Given the description of an element on the screen output the (x, y) to click on. 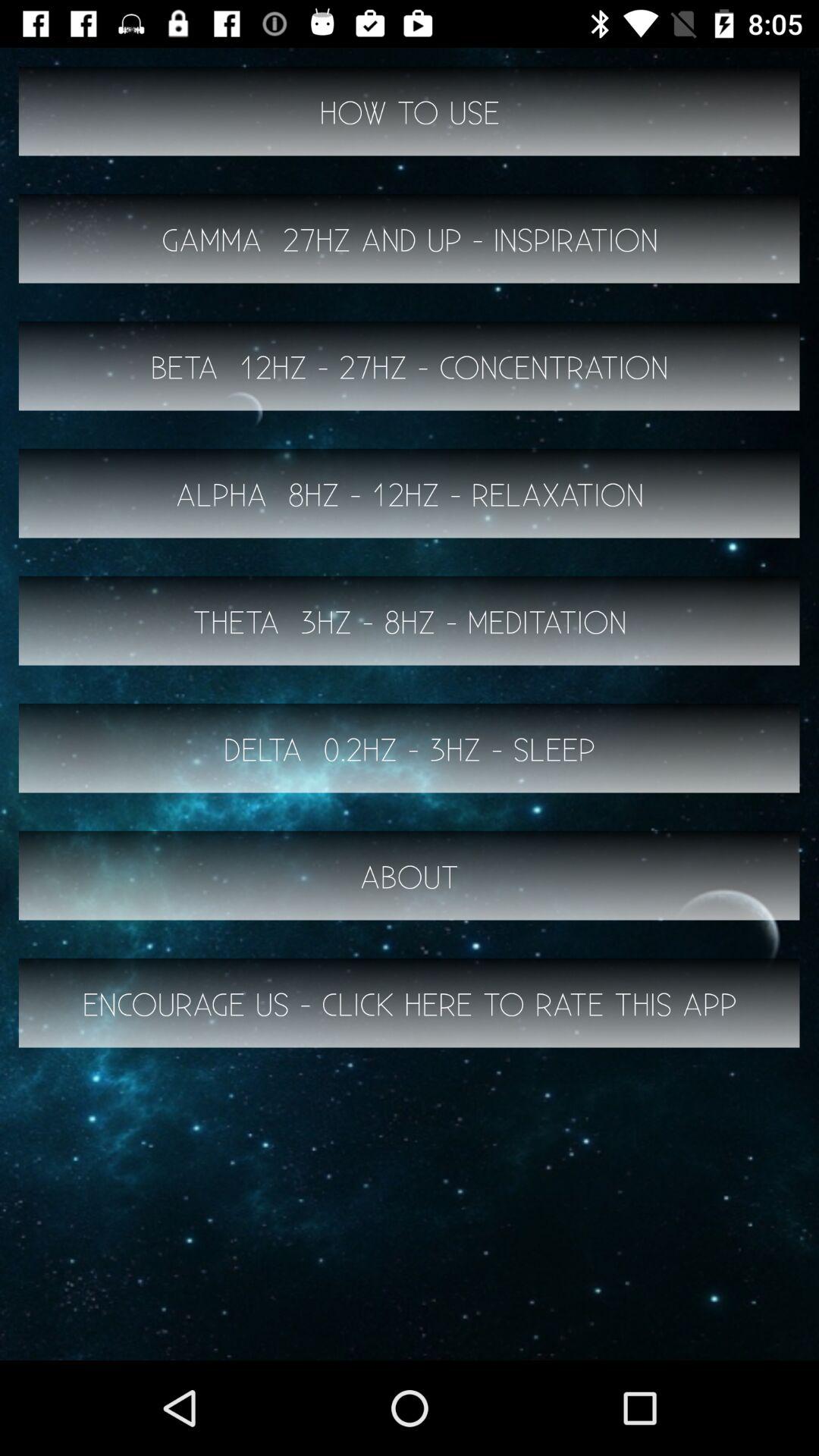
press the item below the delta 0 2hz item (409, 875)
